Given the description of an element on the screen output the (x, y) to click on. 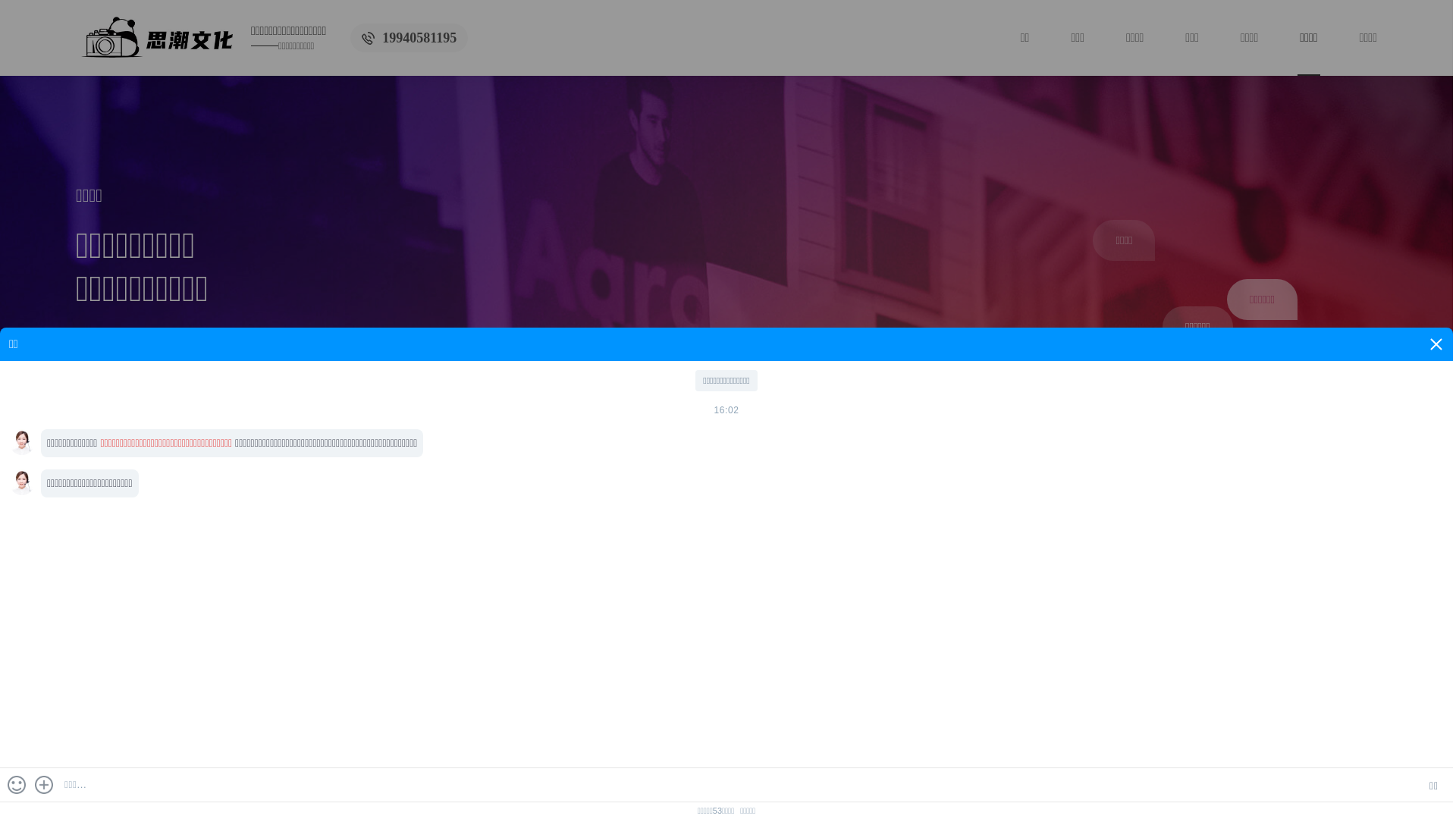
2 Element type: text (1332, 604)
2 Element type: text (1284, 650)
